Given the description of an element on the screen output the (x, y) to click on. 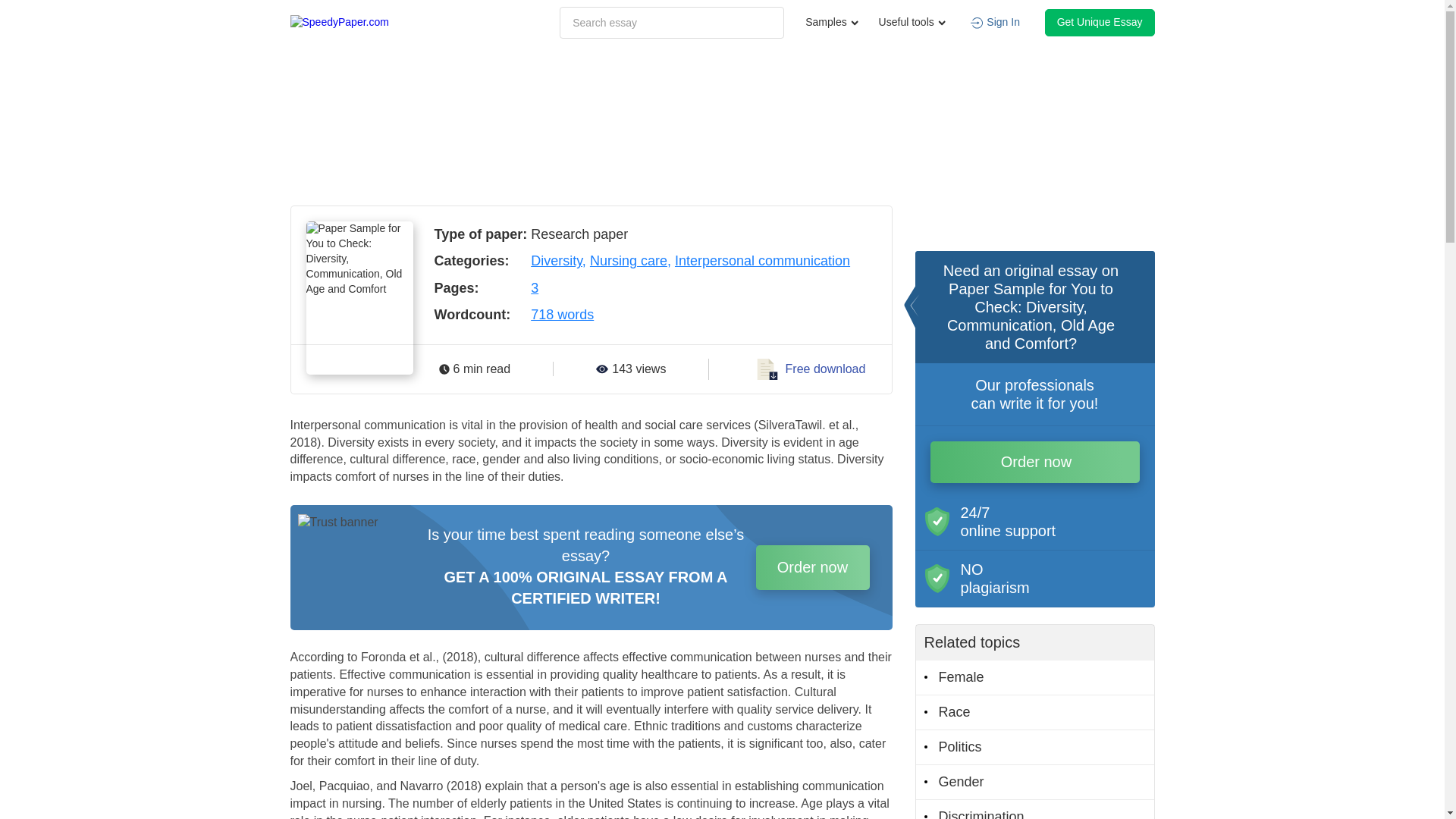
Get Unique Essay (1099, 22)
